Given the description of an element on the screen output the (x, y) to click on. 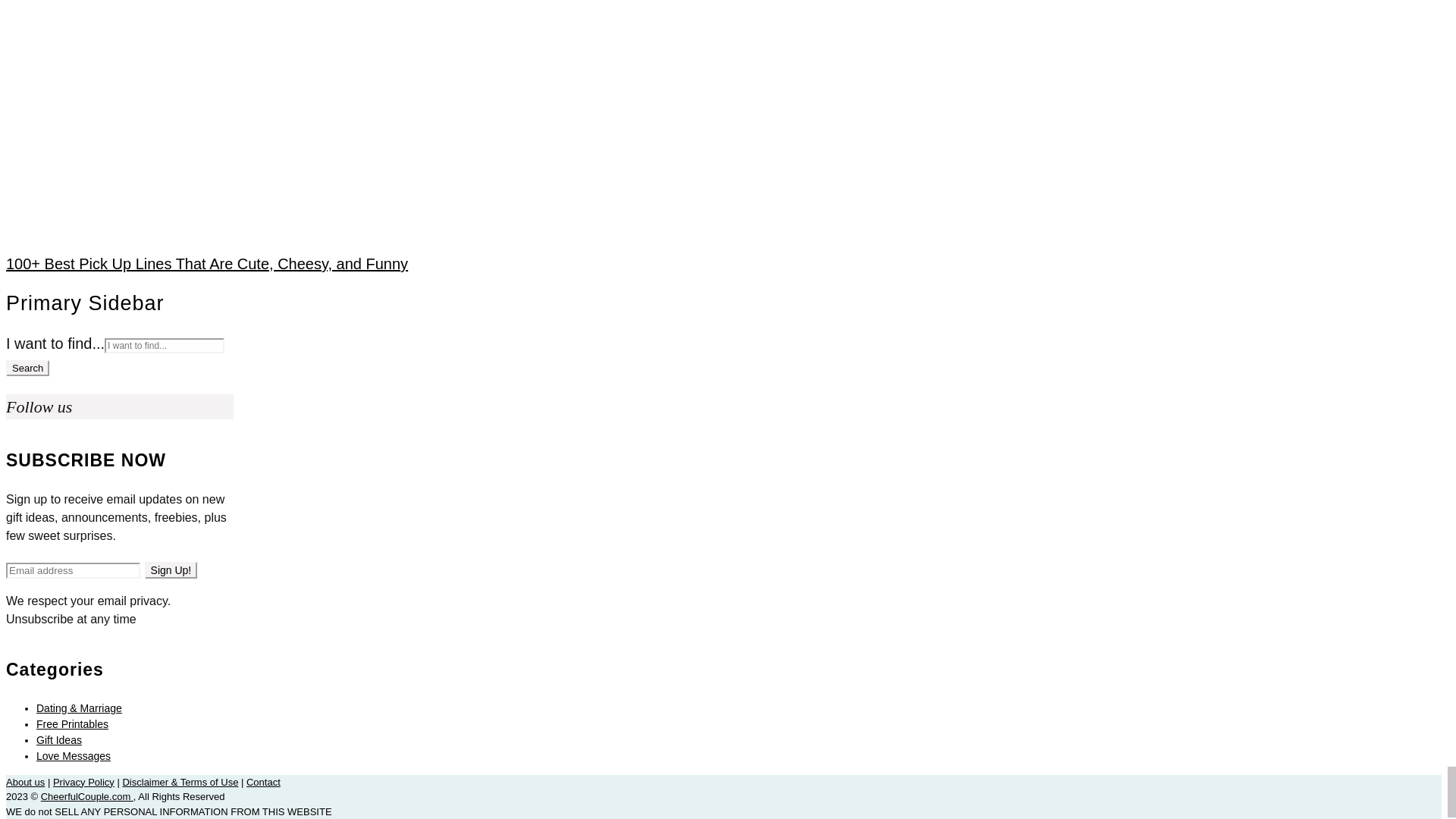
Sign Up! (171, 569)
search (27, 367)
search (27, 367)
